Given the description of an element on the screen output the (x, y) to click on. 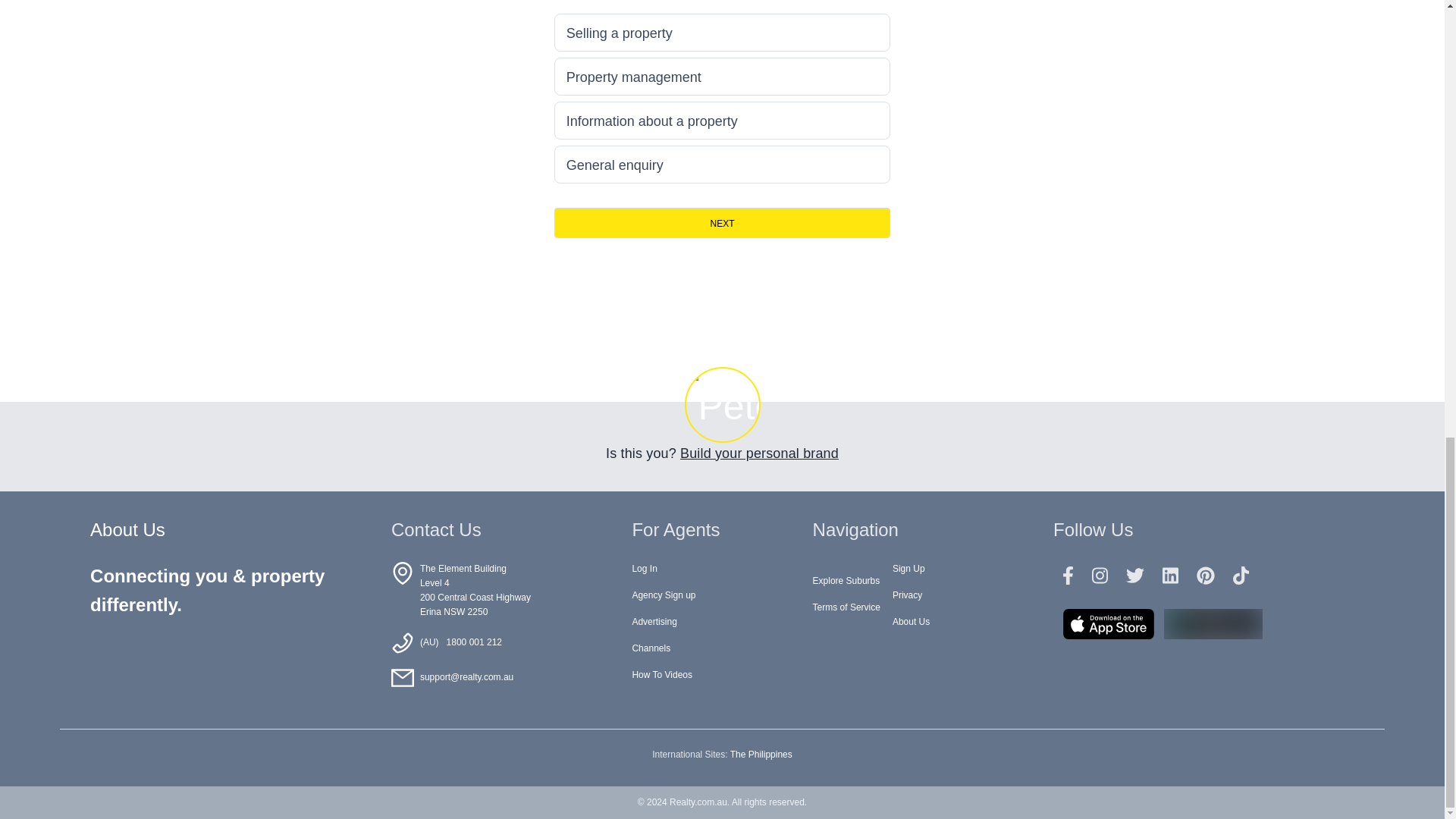
Channels (650, 647)
Terms of Service (846, 606)
Log In (643, 568)
Explore Suburbs (846, 580)
Advertising (654, 621)
Realty Twitter (1134, 575)
NEXT (722, 223)
Realestate Philippines (761, 754)
Realty Facebook (1067, 575)
Realty Pinterest (1206, 575)
